Given the description of an element on the screen output the (x, y) to click on. 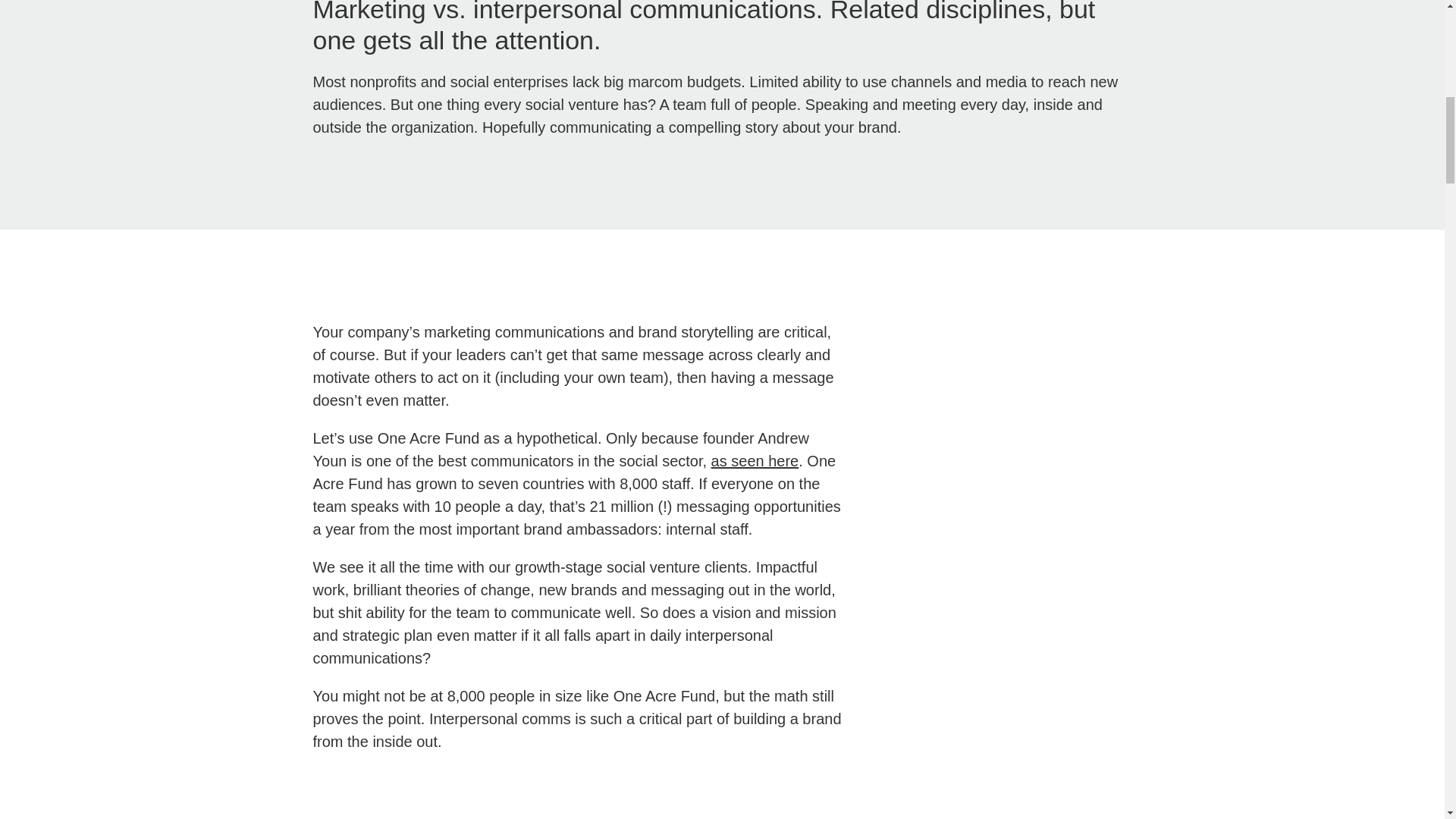
as seen here (755, 460)
